Given the description of an element on the screen output the (x, y) to click on. 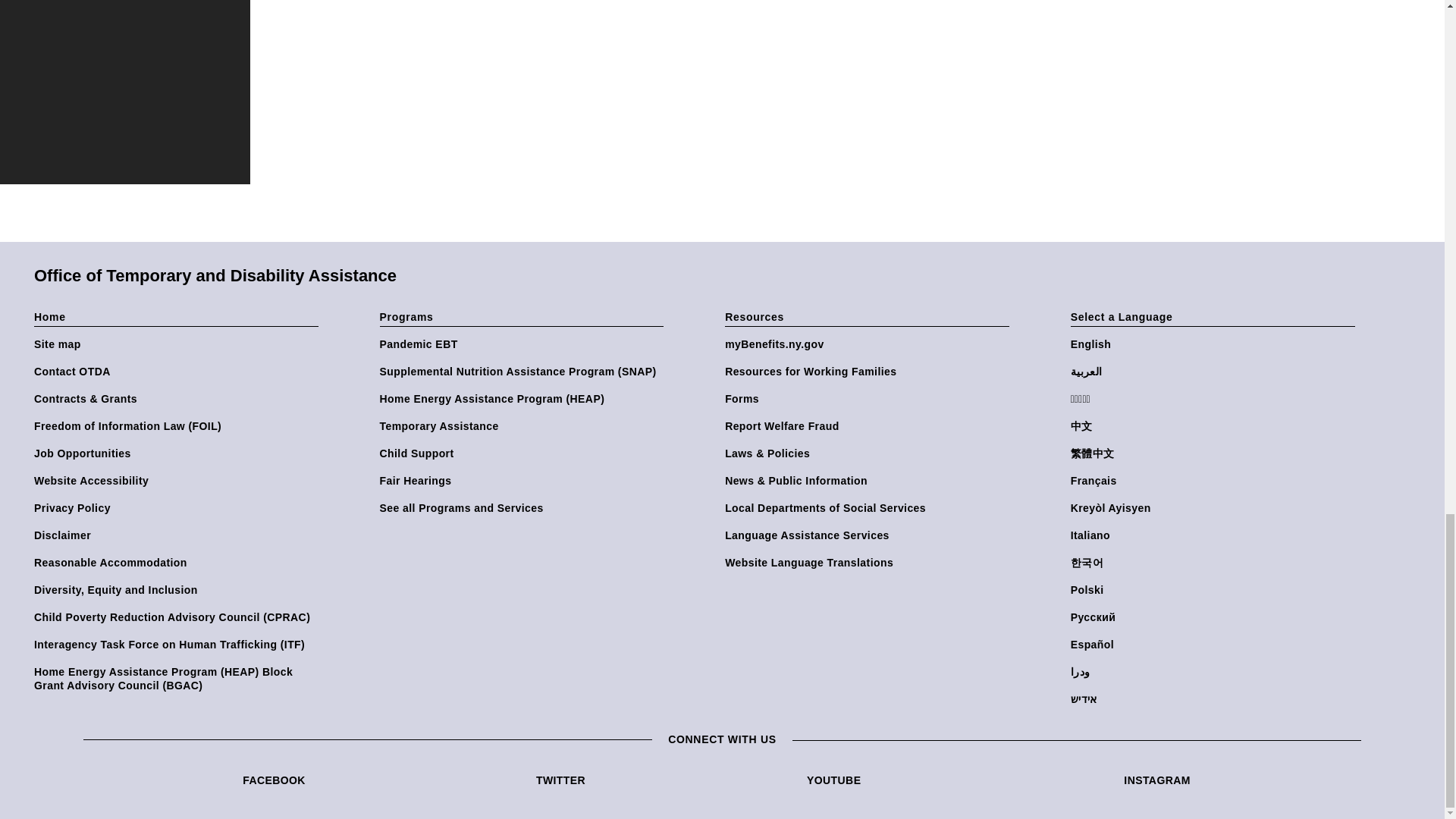
Polish (1215, 590)
Spanish (1215, 644)
Korean (1215, 562)
Urdu (1215, 671)
Russian (1215, 617)
Yiddish (1215, 698)
Arabic (1215, 371)
Haitian-Creole (1215, 508)
Traditional Chinese (1215, 453)
Simplified Chinese (1215, 426)
